Given the description of an element on the screen output the (x, y) to click on. 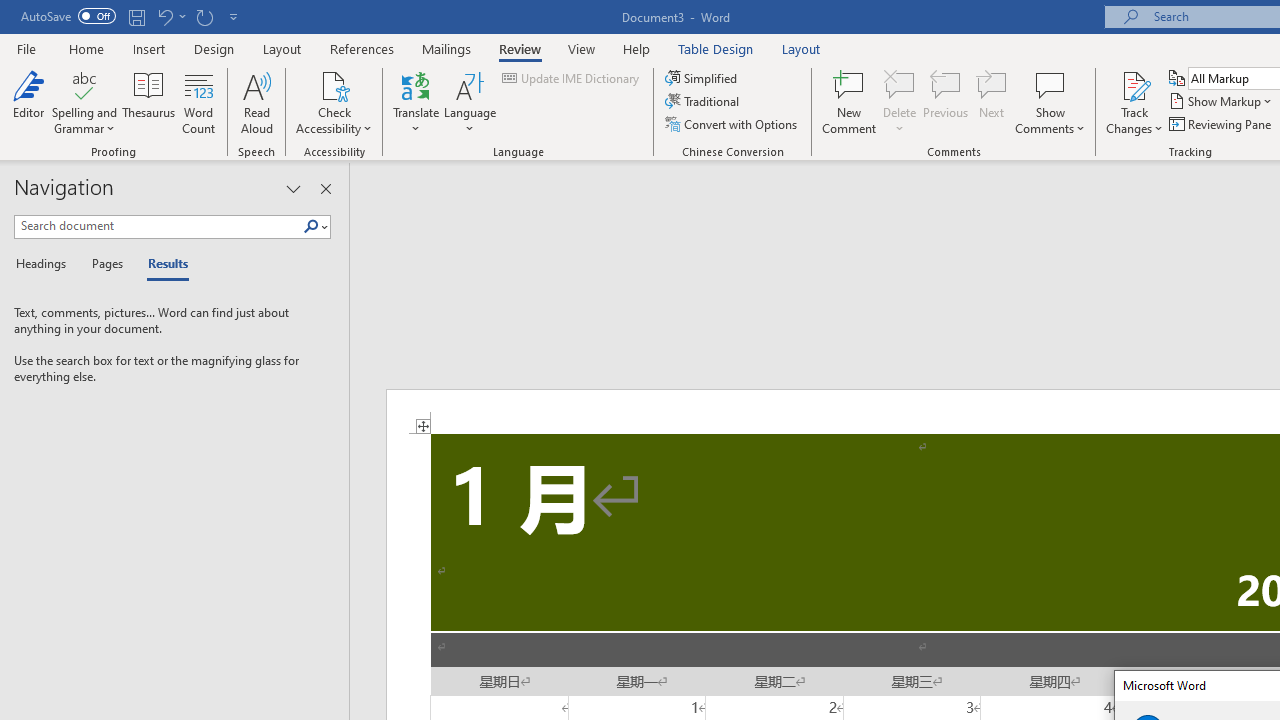
Convert with Options... (732, 124)
Track Changes (1134, 102)
Check Accessibility (334, 102)
Next (991, 102)
Show Comments (1050, 102)
Show Comments (1050, 84)
Previous (946, 102)
Delete (900, 84)
